Given the description of an element on the screen output the (x, y) to click on. 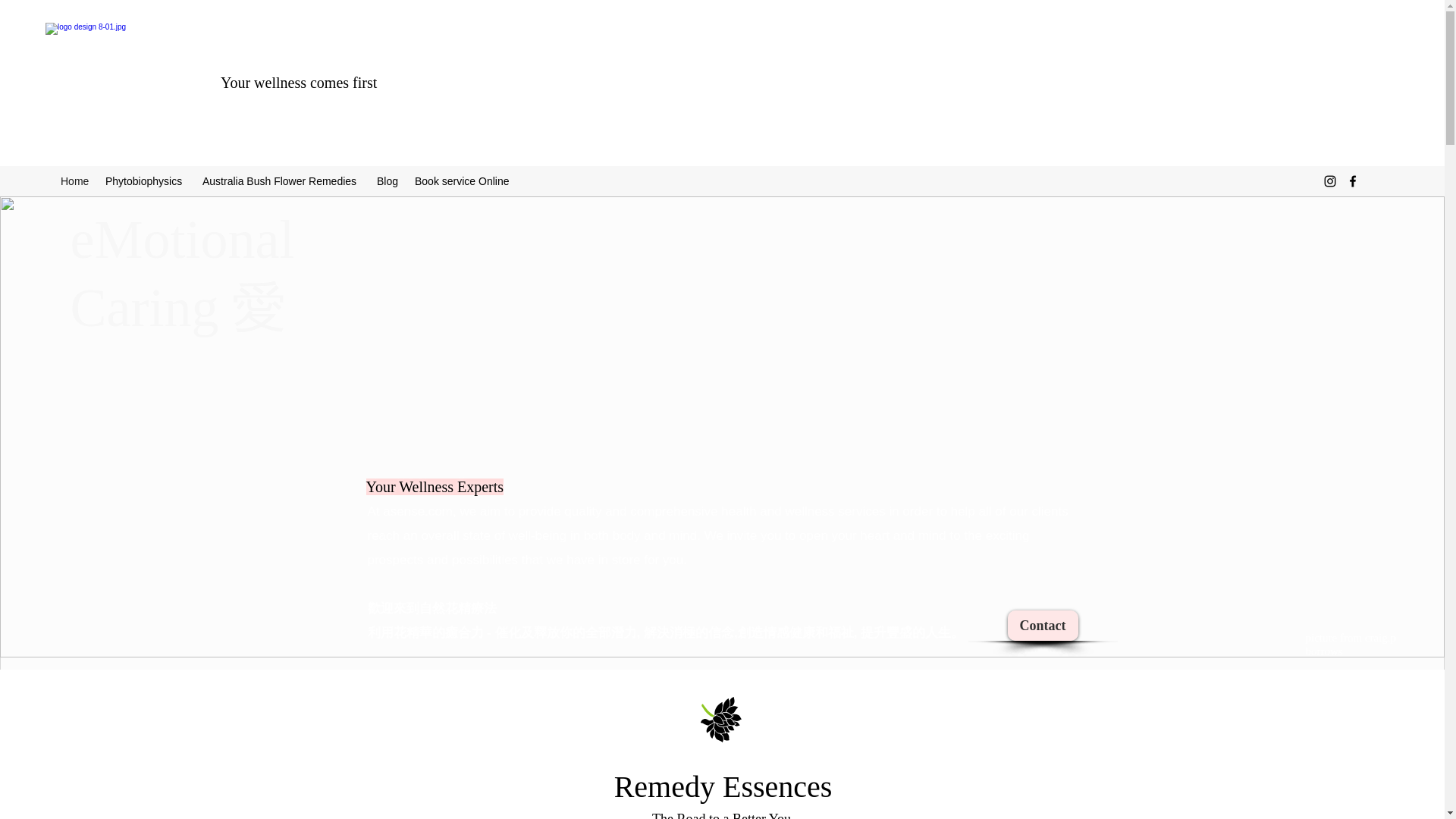
Australia Bush Flower Remedies (282, 180)
Contact (1042, 625)
Book service Online (463, 180)
Blog (388, 180)
Home (74, 180)
Phytobiophysics (146, 180)
